Given the description of an element on the screen output the (x, y) to click on. 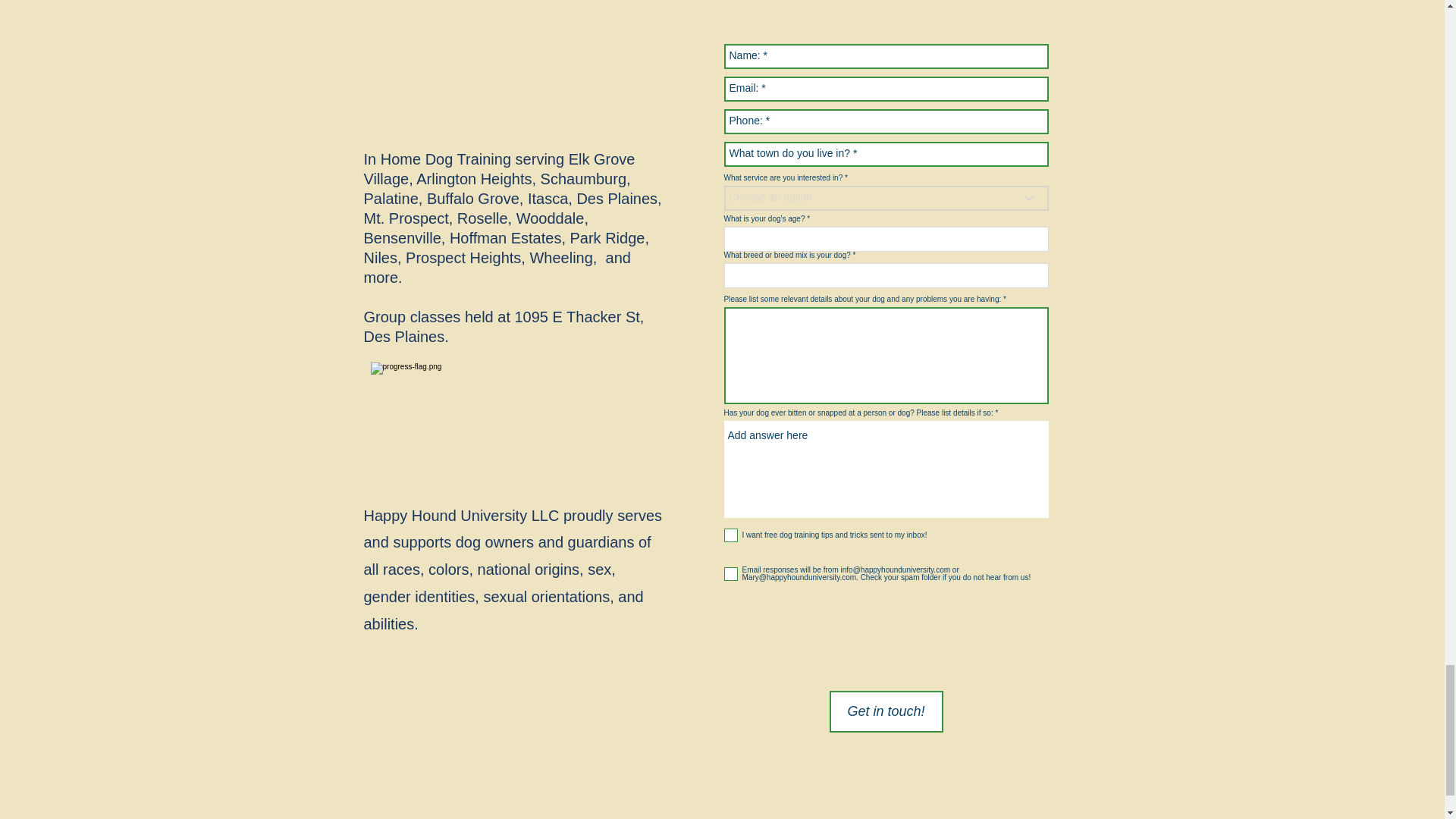
Facebook Like (409, 119)
Twitter Follow (483, 119)
